Given the description of an element on the screen output the (x, y) to click on. 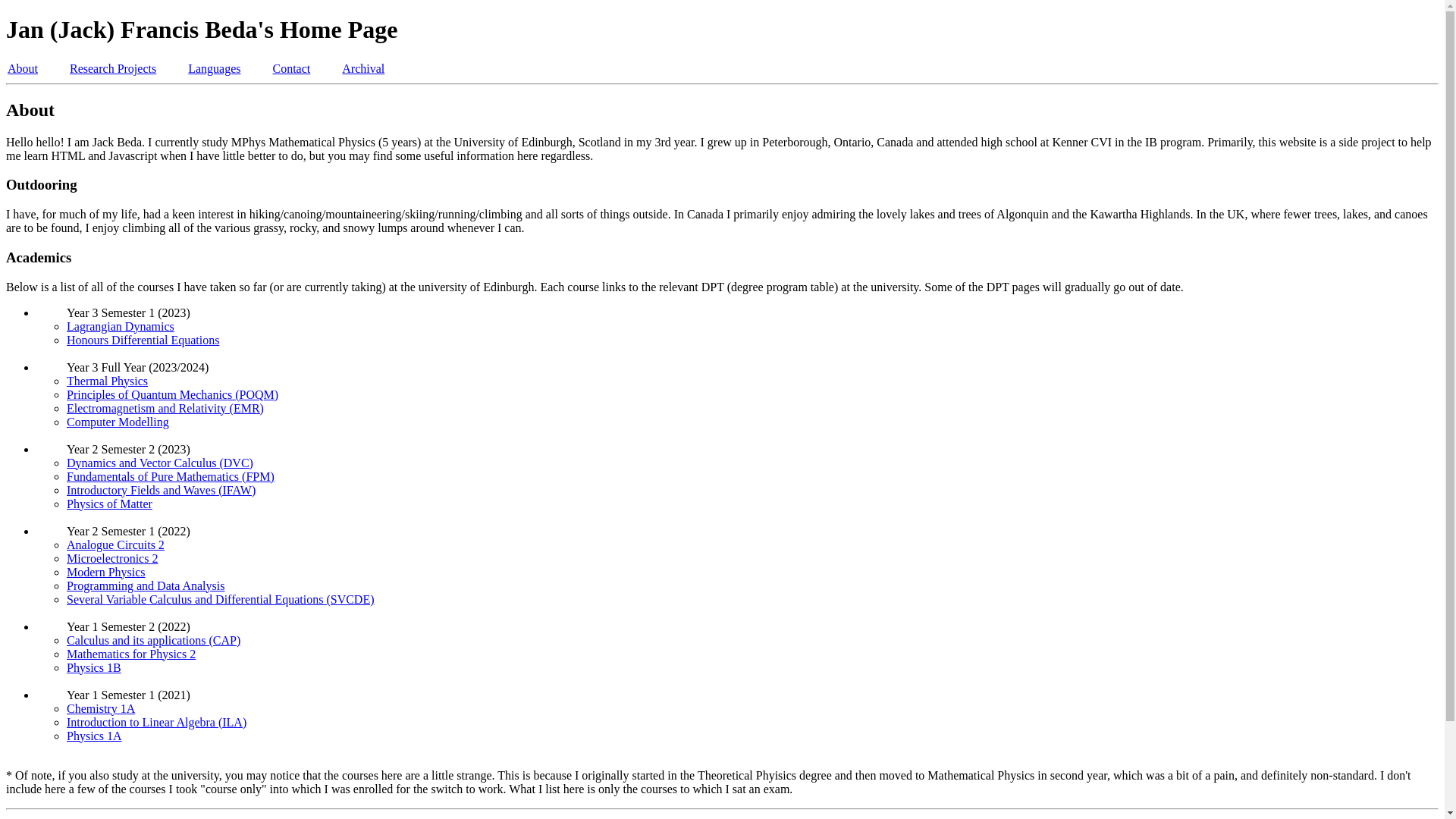
Several Variable Calculus and Differential Equations (SVCDE) Element type: text (220, 599)
Dynamics and Vector Calculus (DVC) Element type: text (159, 462)
Physics of Matter Element type: text (109, 503)
Thermal Physics Element type: text (106, 380)
Introductory Fields and Waves (IFAW) Element type: text (160, 489)
Archival Element type: text (363, 68)
Principles of Quantum Mechanics (POQM) Element type: text (172, 394)
Research Projects Element type: text (112, 68)
Chemistry 1A Element type: text (100, 708)
Fundamentals of Pure Mathematics (FPM) Element type: text (170, 476)
Modern Physics Element type: text (105, 571)
Mathematics for Physics 2 Element type: text (130, 653)
Physics 1A Element type: text (93, 735)
Physics 1B Element type: text (93, 667)
Introduction to Linear Algebra (ILA) Element type: text (156, 721)
Contact Element type: text (291, 68)
Electromagnetism and Relativity (EMR) Element type: text (164, 407)
Programming and Data Analysis Element type: text (145, 585)
Languages Element type: text (214, 68)
Lagrangian Dynamics Element type: text (120, 326)
Computer Modelling Element type: text (117, 421)
Analogue Circuits 2 Element type: text (115, 544)
About Element type: text (22, 68)
Calculus and its applications (CAP) Element type: text (153, 639)
Microelectronics 2 Element type: text (111, 558)
Honours Differential Equations Element type: text (142, 339)
